Given the description of an element on the screen output the (x, y) to click on. 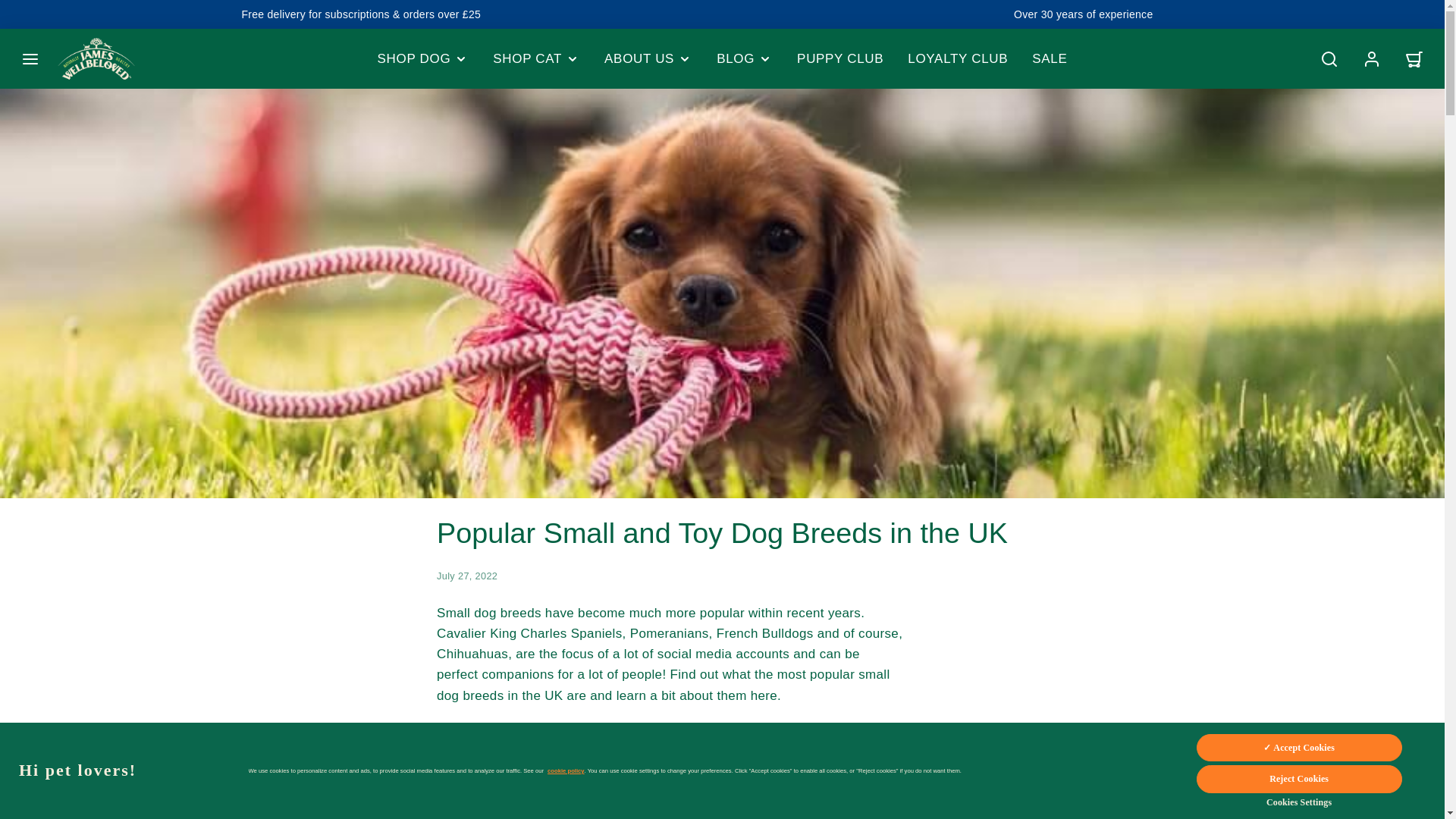
PUPPY CLUB (839, 58)
LOYALTY CLUB (957, 58)
ACCOUNT (1372, 58)
MENU (29, 58)
SHOP DOG (423, 58)
ABOUT US (648, 58)
BLOG (744, 58)
SALE (1049, 58)
SEARCH (1329, 58)
SHOP CAT (536, 58)
